Given the description of an element on the screen output the (x, y) to click on. 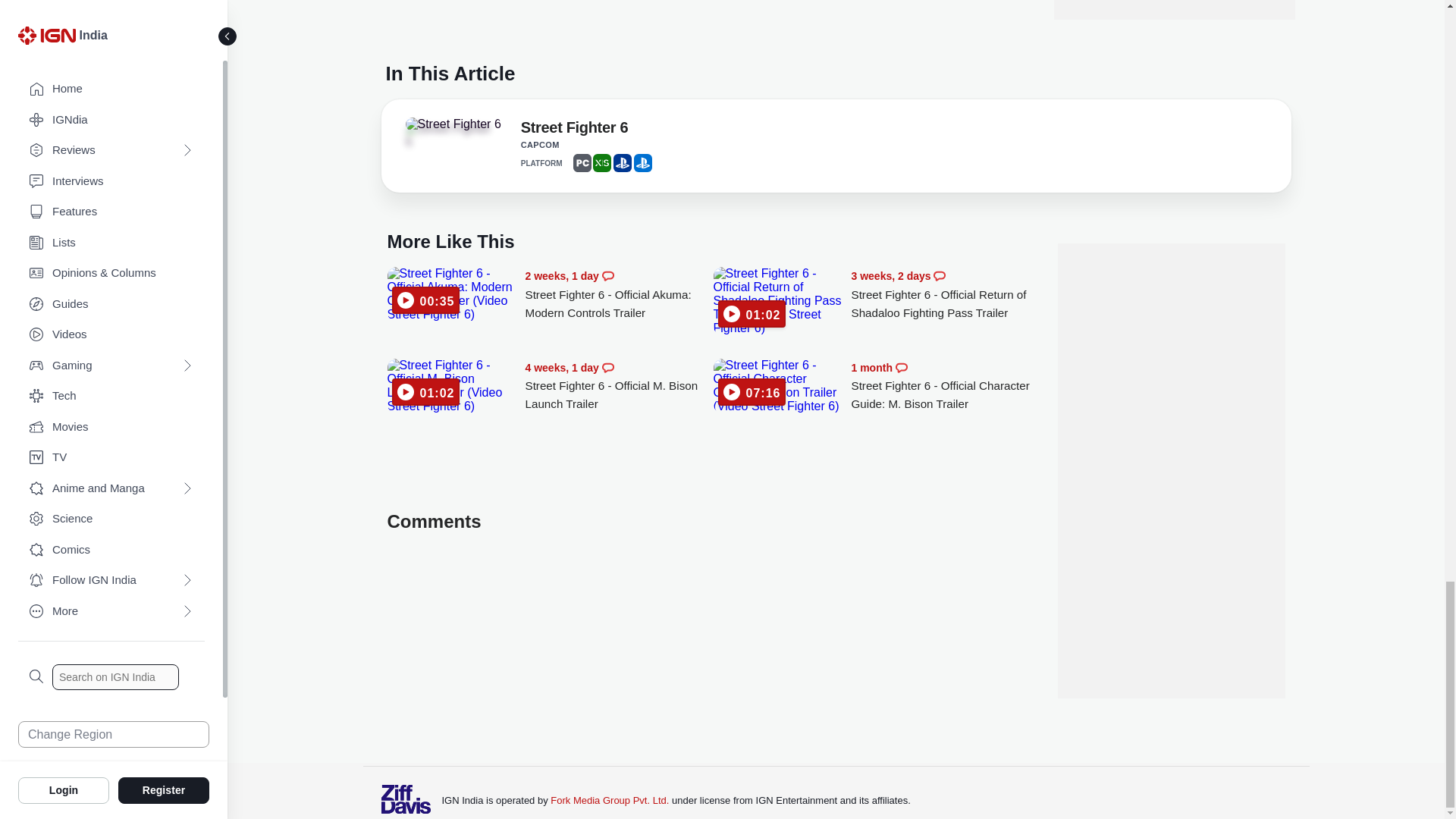
Street Fighter 6 (452, 124)
Street Fighter 6 - Official M. Bison Launch Trailer (618, 386)
Street Fighter 6 (448, 135)
Street Fighter 6 - Official Akuma: Modern Controls Trailer (451, 293)
Street Fighter 6 - Official Akuma: Modern Controls Trailer (618, 294)
Street Fighter 6 - Official M. Bison Launch Trailer (451, 385)
Street Fighter 6 (574, 129)
